Given the description of an element on the screen output the (x, y) to click on. 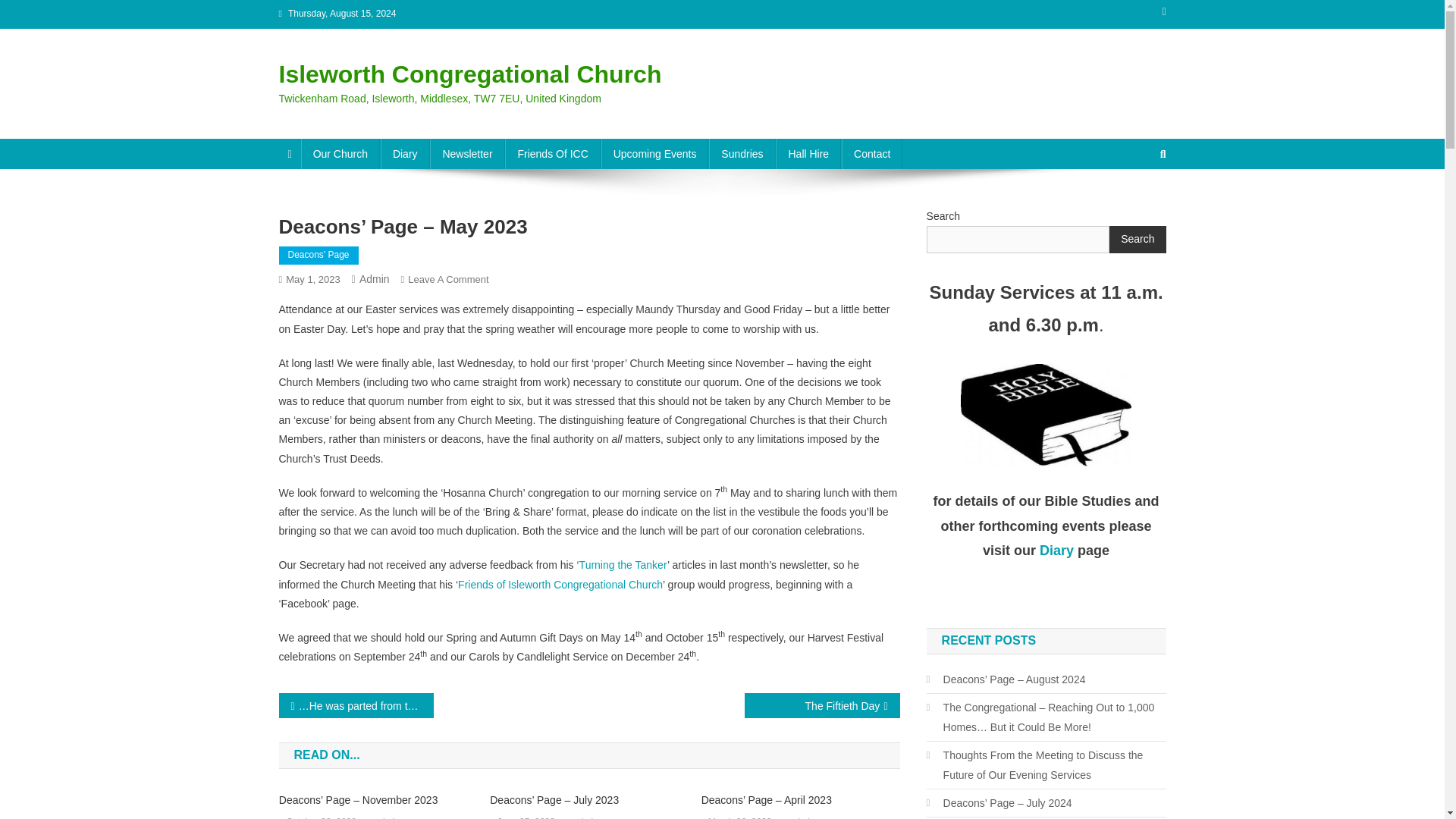
Isleworth Congregational Church (470, 73)
October 30, 2023 (320, 816)
Contact (871, 153)
Diary (1056, 549)
Hall Hire (808, 153)
Search (1133, 204)
June 25, 2023 (525, 816)
Turning the Tanker (622, 564)
Friends of Isleworth Congregational Church (560, 584)
The Fiftieth Day (821, 705)
